Given the description of an element on the screen output the (x, y) to click on. 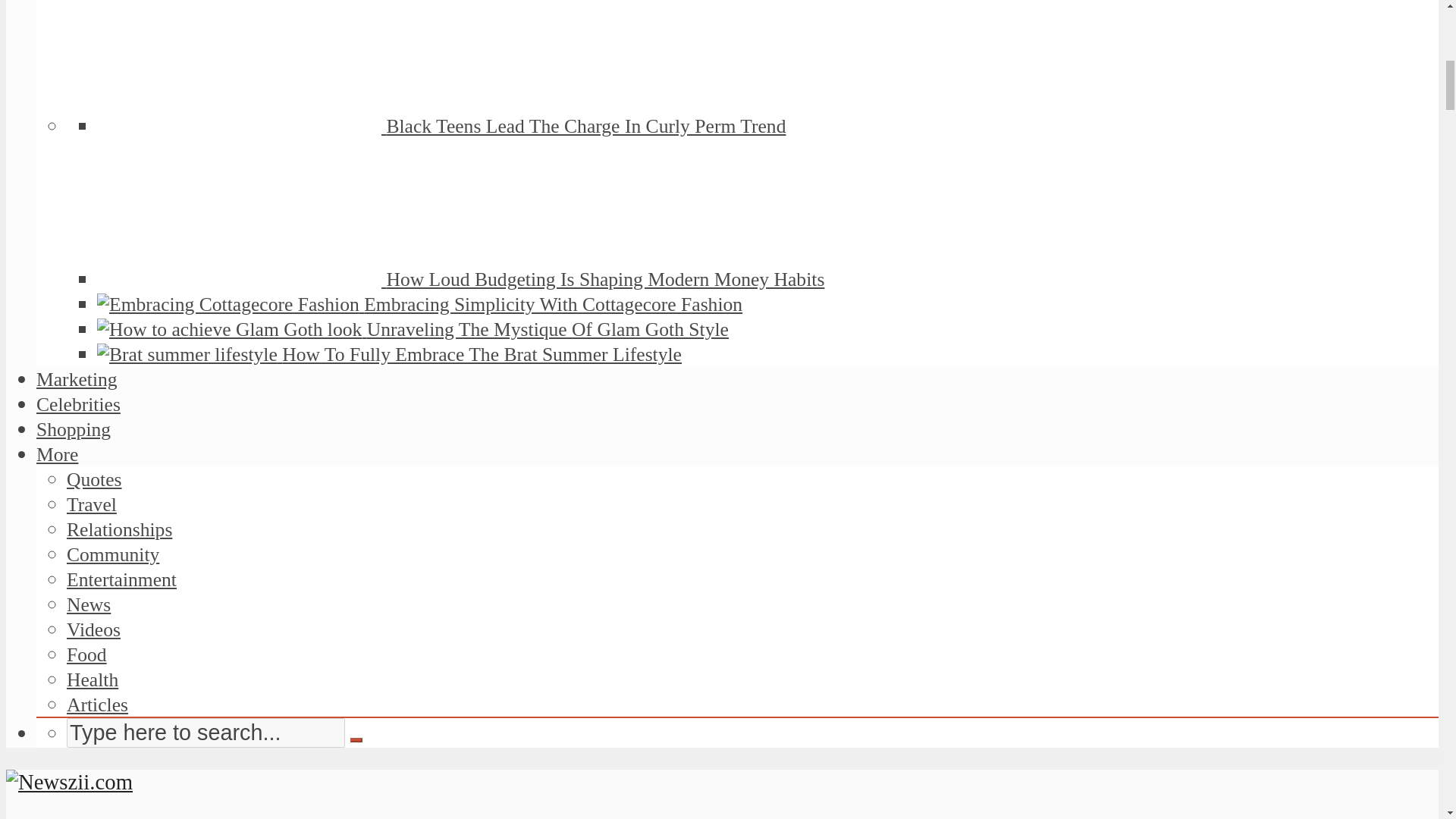
Type here to search... (205, 732)
Unraveling The Mystique Of Glam Goth Style (547, 329)
Type here to search... (205, 732)
How Loud Budgeting Is Shaping Modern Money Habits (604, 279)
Embracing Simplicity With Cottagecore Fashion (553, 304)
Black Teens Lead The Charge In Curly Perm Trend (585, 126)
